Given the description of an element on the screen output the (x, y) to click on. 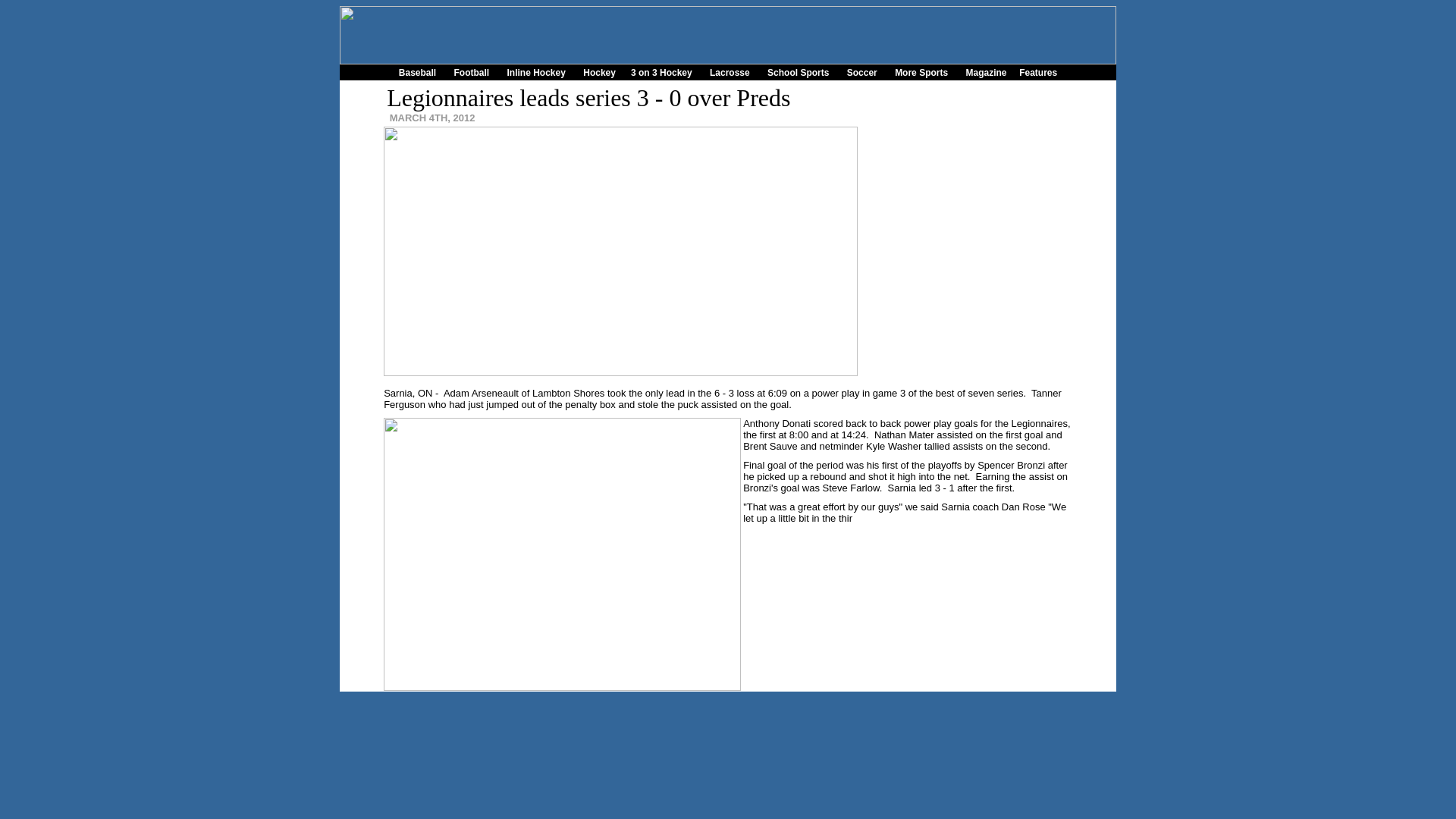
Lacrosse (729, 71)
Features (1038, 71)
Inline Hockey (536, 71)
Baseball (416, 71)
Soccer (862, 71)
Football (471, 71)
School Sports (797, 71)
Magazine (985, 71)
More Sports (921, 71)
3 on 3 Hockey (661, 71)
Hockey (599, 71)
